Given the description of an element on the screen output the (x, y) to click on. 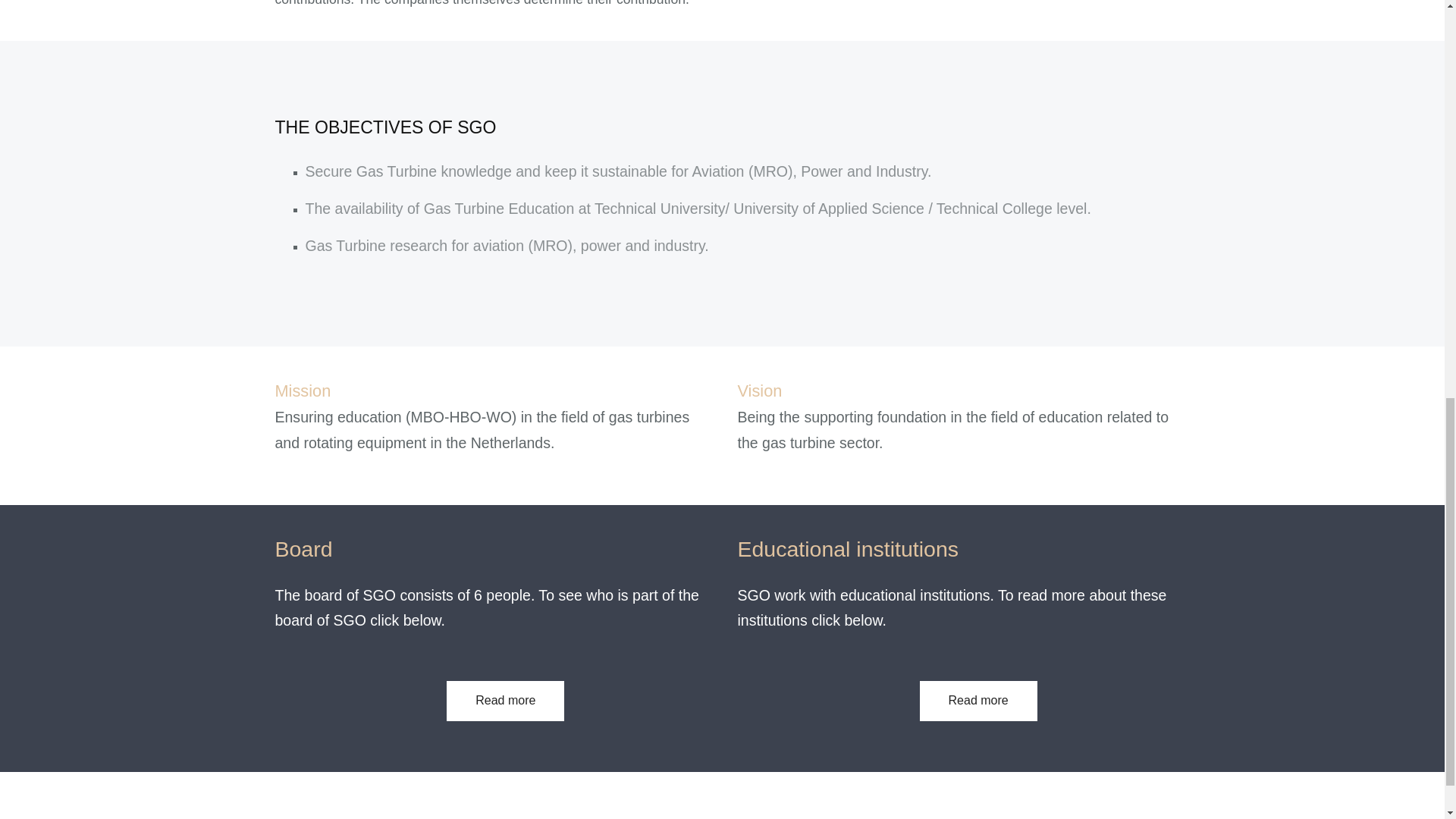
LinkedIn (1153, 810)
Read more (505, 700)
Read more (978, 700)
